Given the description of an element on the screen output the (x, y) to click on. 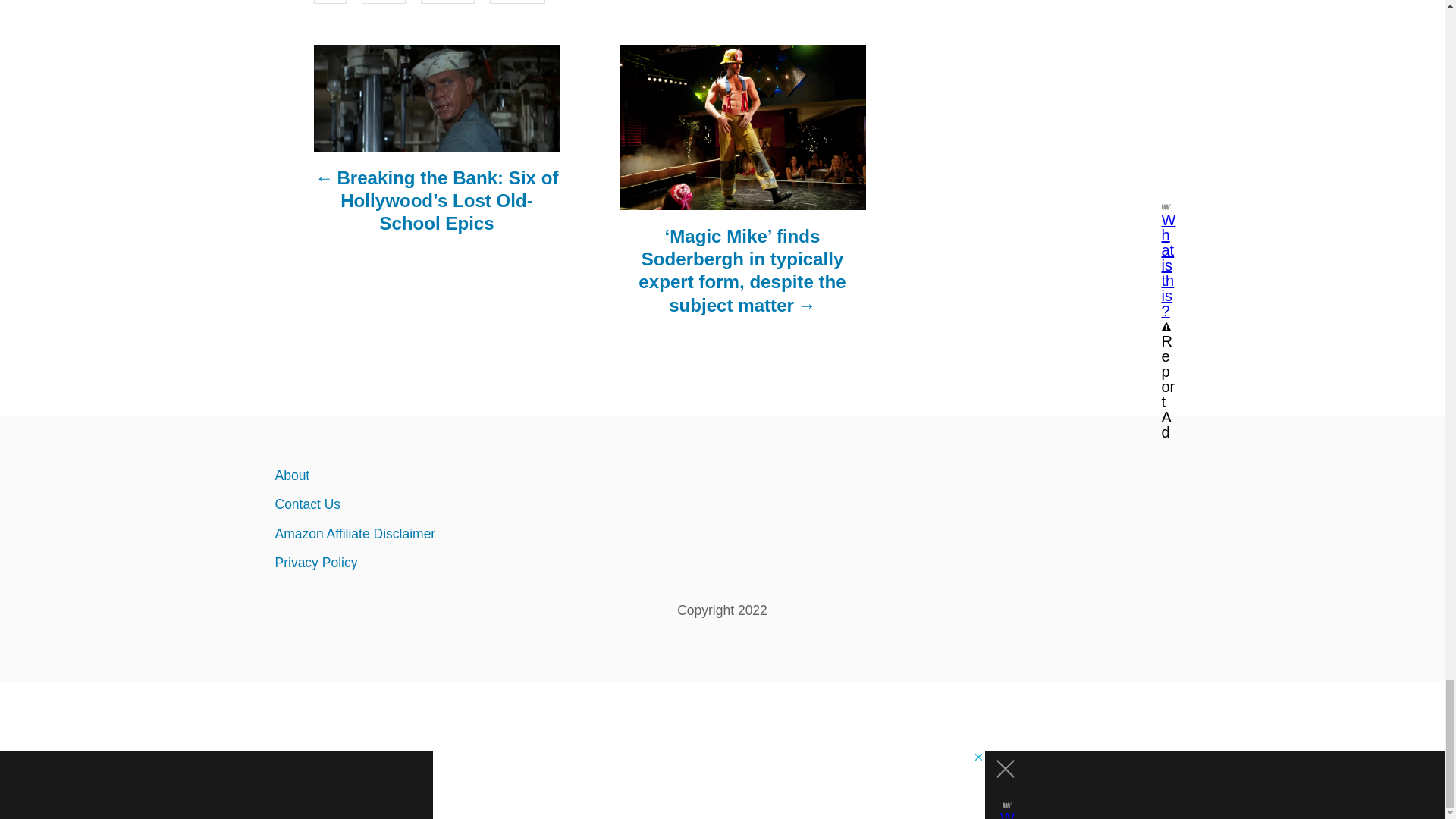
tv recap (516, 2)
FX (330, 2)
Amazon Affiliate Disclaimer (406, 533)
About (406, 475)
Contact Us (406, 503)
Privacy Policy (406, 562)
Louie (383, 2)
louis ck (447, 2)
